Given the description of an element on the screen output the (x, y) to click on. 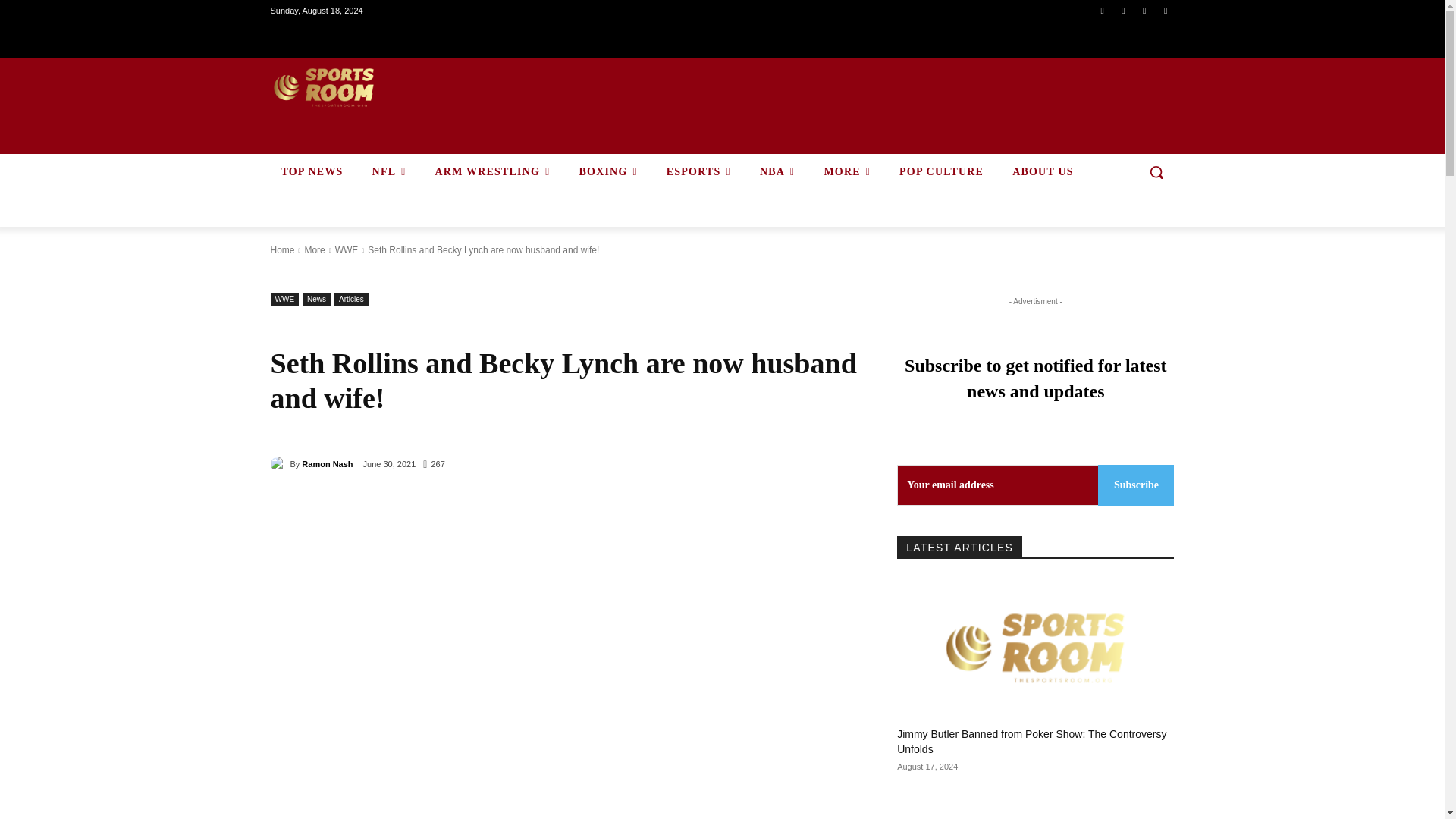
Twitter (1144, 9)
Youtube (1165, 9)
Facebook (1101, 9)
Instagram (1123, 9)
